Given the description of an element on the screen output the (x, y) to click on. 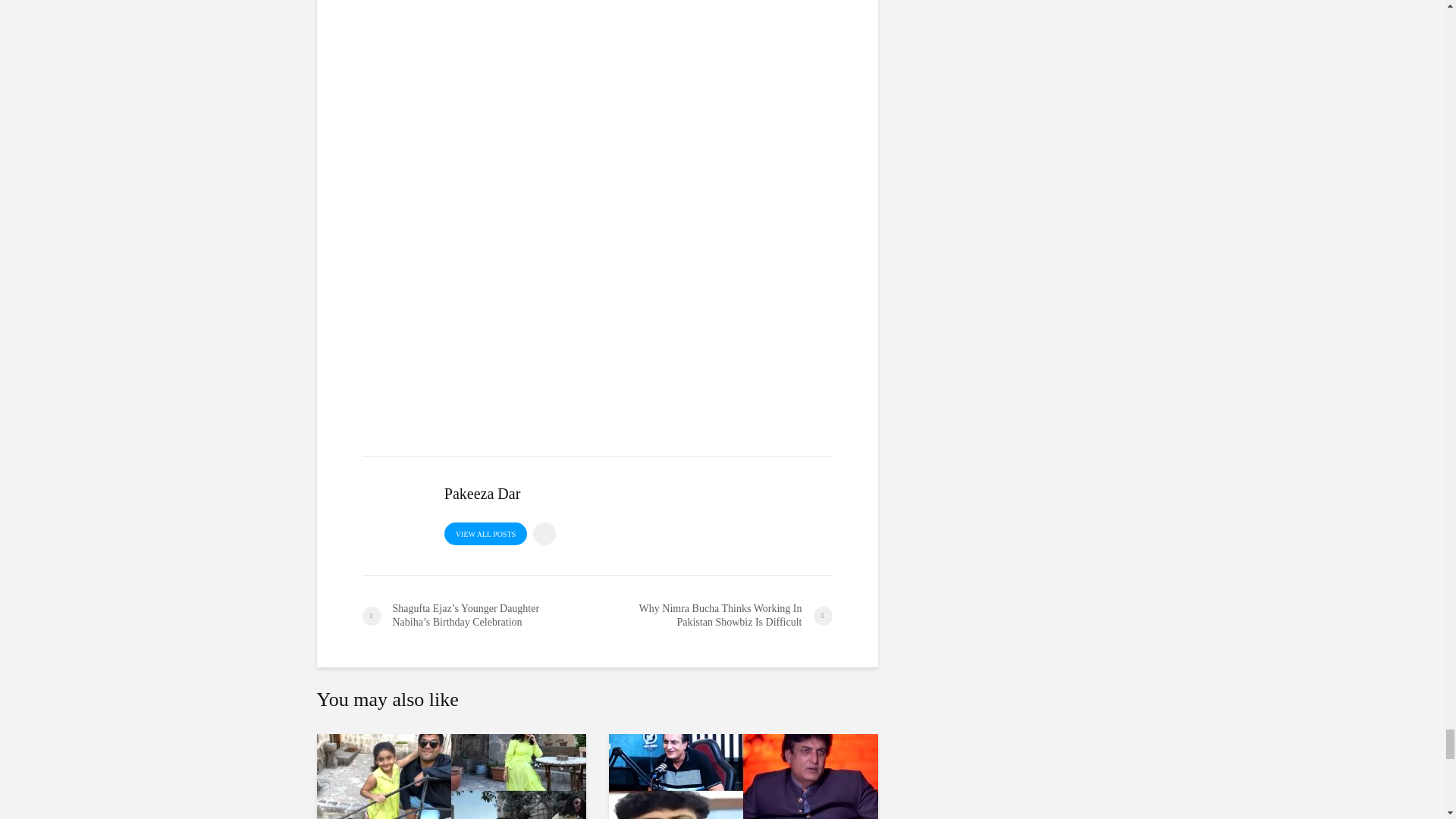
VIEW ALL POSTS (485, 533)
